Given the description of an element on the screen output the (x, y) to click on. 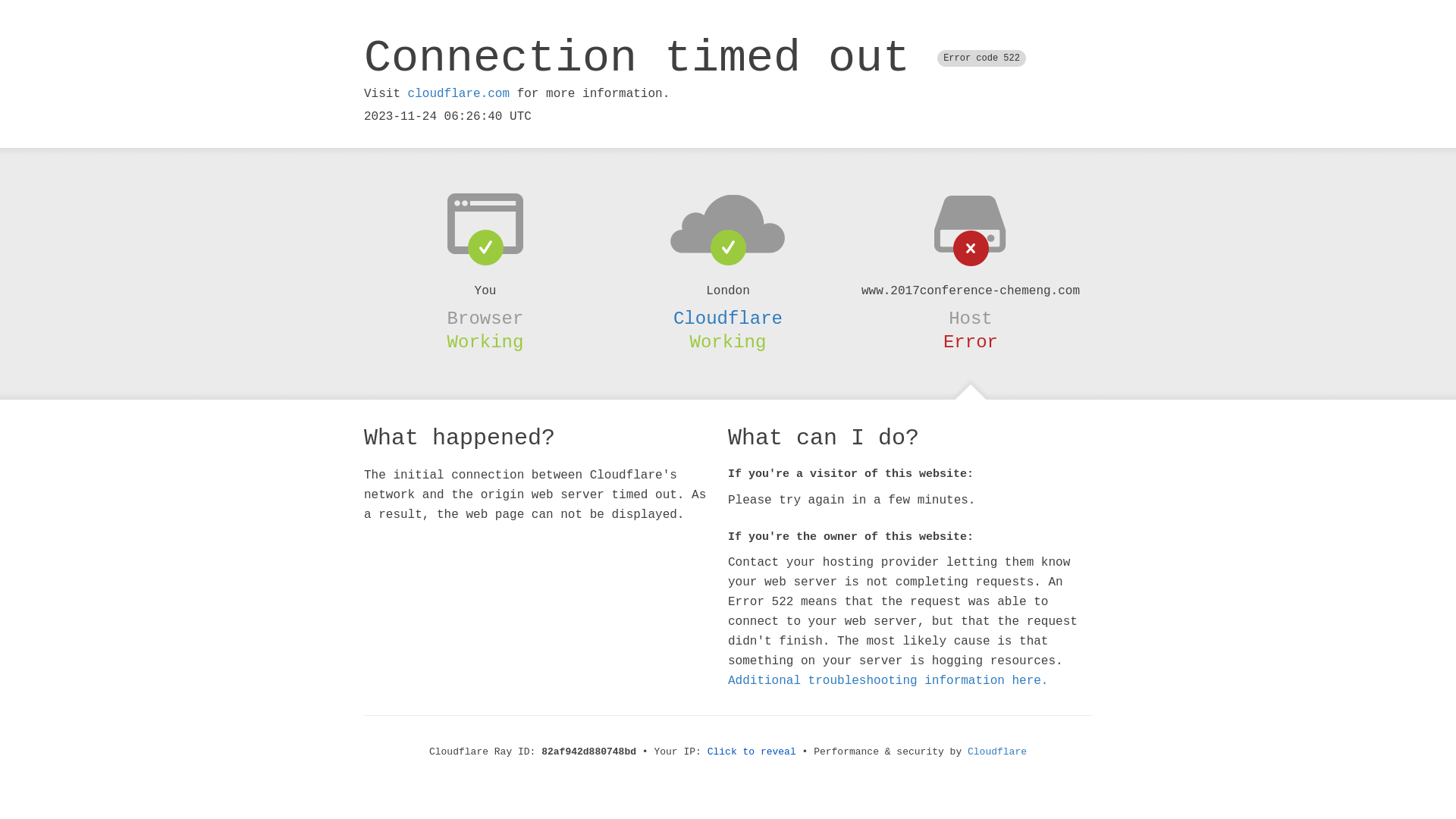
Cloudflare Element type: text (996, 751)
Cloudflare Element type: text (727, 318)
Click to reveal Element type: text (751, 751)
Additional troubleshooting information here. Element type: text (888, 680)
cloudflare.com Element type: text (458, 93)
